Given the description of an element on the screen output the (x, y) to click on. 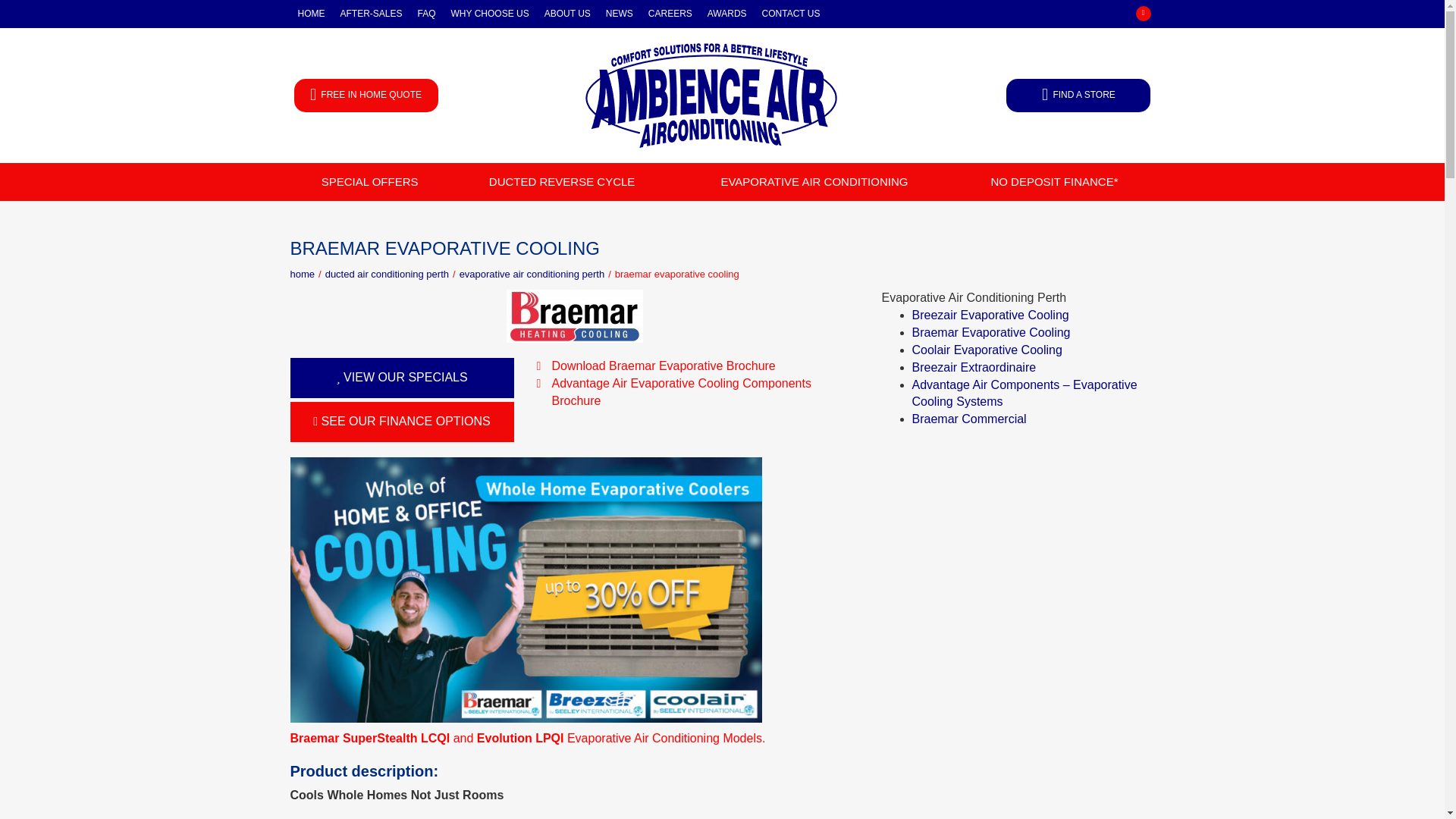
evaporative air conditioning perth (532, 274)
SEE OUR FINANCE OPTIONS (401, 422)
EVAPORATIVE AIR CONDITIONING (813, 181)
Ambience Air Airconditioning (711, 95)
Braemar Evaporative Cooling (990, 332)
HOME (310, 13)
Advantage Air Evaporative Cooling Components Brochure (698, 392)
CONTACT US (791, 13)
Breezair Evaporative Cooling (989, 314)
NEWS (619, 13)
